Given the description of an element on the screen output the (x, y) to click on. 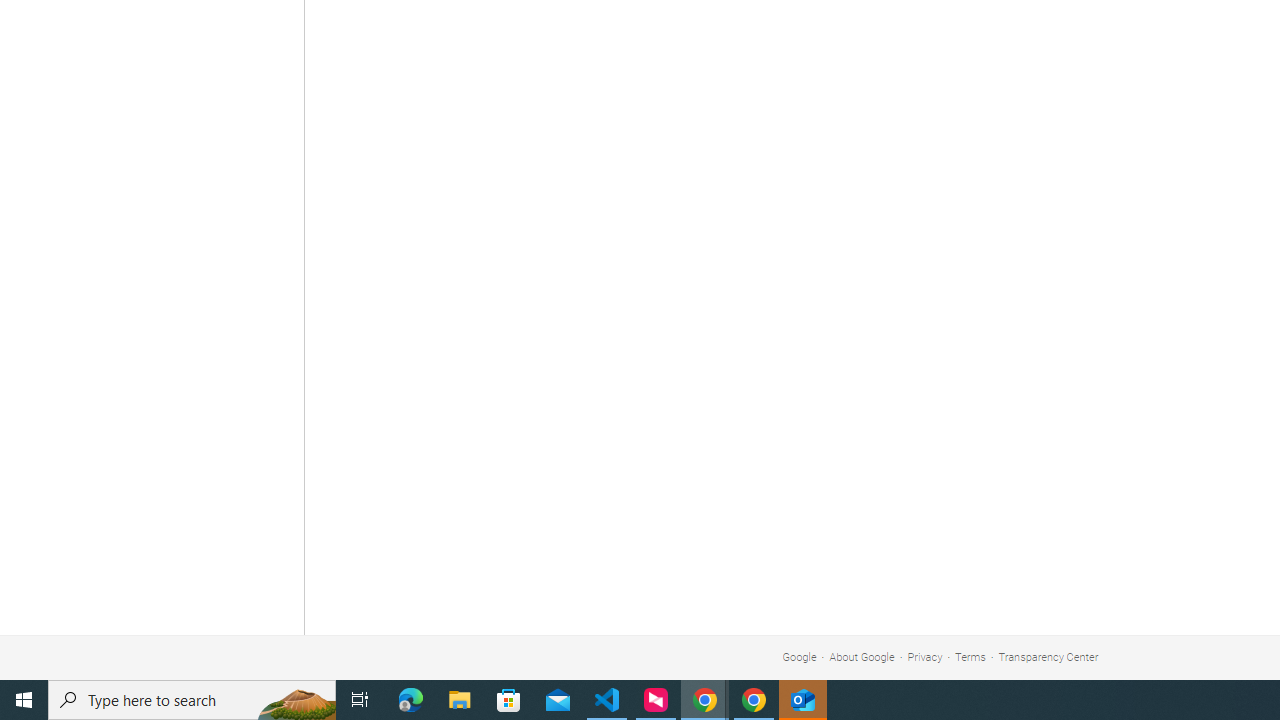
Google (799, 656)
About Google (861, 656)
Transparency Center (1048, 656)
